Given the description of an element on the screen output the (x, y) to click on. 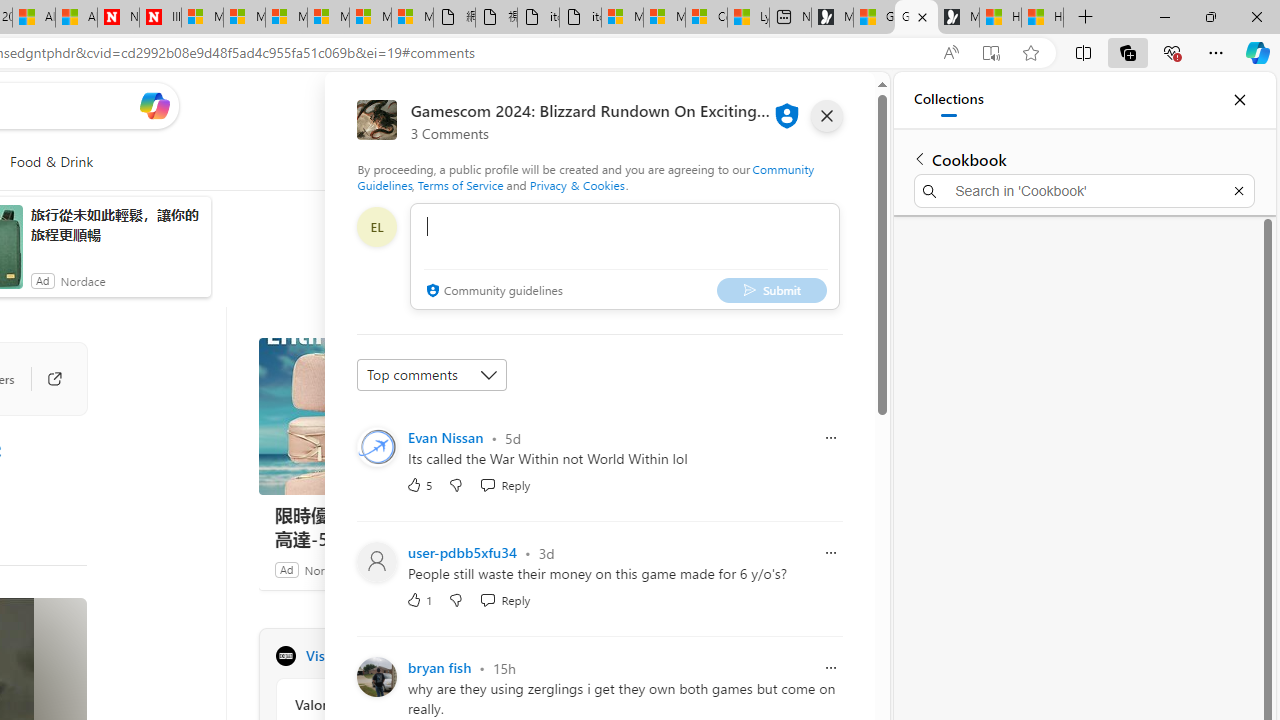
Terms of Service (461, 184)
Search in 'Cookbook' (1084, 190)
comment-box (624, 256)
